Given the description of an element on the screen output the (x, y) to click on. 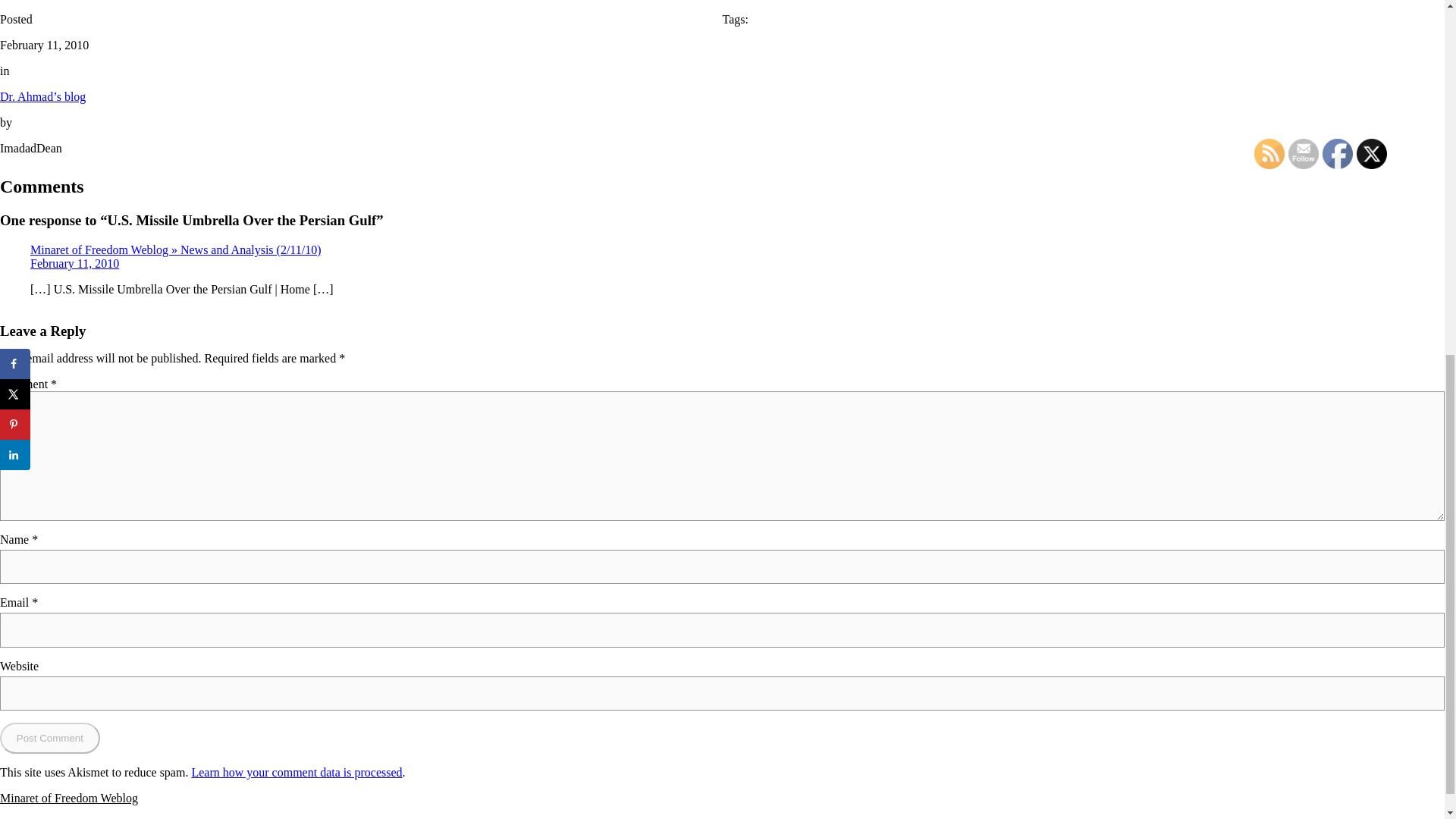
Learn how your comment data is processed (295, 771)
Post Comment (50, 737)
Facebook (1337, 153)
Follow by Email (1303, 153)
February 11, 2010 (74, 263)
Twitter (1371, 153)
RSS (1268, 153)
Post Comment (50, 737)
Minaret of Freedom Weblog (69, 797)
